Given the description of an element on the screen output the (x, y) to click on. 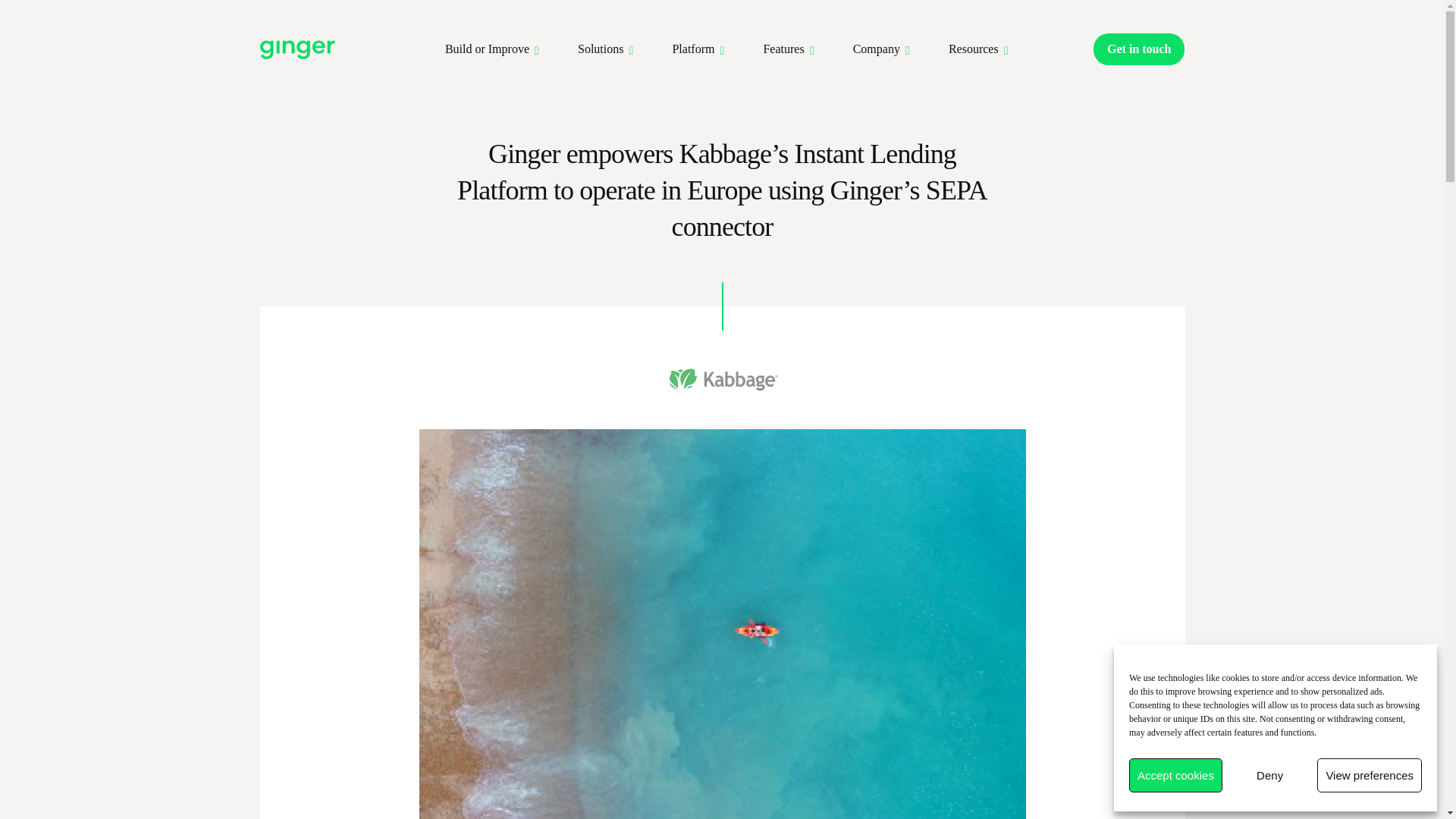
Get in touch (1139, 49)
Build or Improve (487, 48)
Features (782, 48)
Solutions (600, 48)
Deny (1269, 775)
Get in touch (1139, 49)
Resources (973, 48)
Platform (692, 48)
View preferences (1369, 775)
Accept cookies (1176, 775)
Company (876, 48)
